Given the description of an element on the screen output the (x, y) to click on. 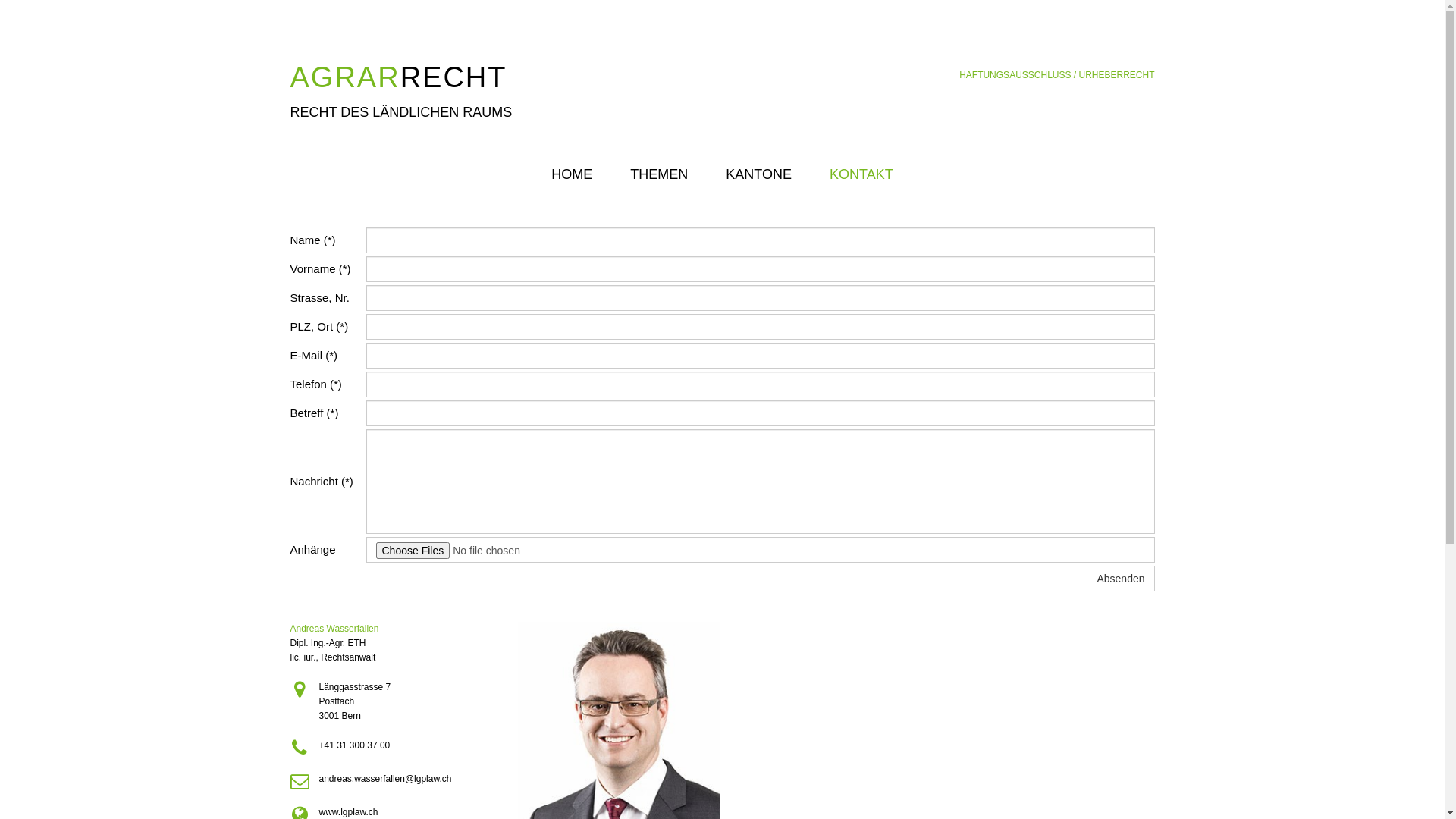
andreas.wasserfallen@lgplaw.ch Element type: text (384, 778)
THEMEN Element type: text (658, 174)
KONTAKT Element type: text (861, 174)
HAFTUNGSAUSSCHLUSS / URHEBERRECHT Element type: text (1056, 74)
+41 31 300 37 00 Element type: text (353, 745)
HOME Element type: text (571, 174)
Absenden Element type: text (1120, 578)
www.lgplaw.ch Element type: text (347, 811)
KANTONE Element type: text (758, 174)
